Given the description of an element on the screen output the (x, y) to click on. 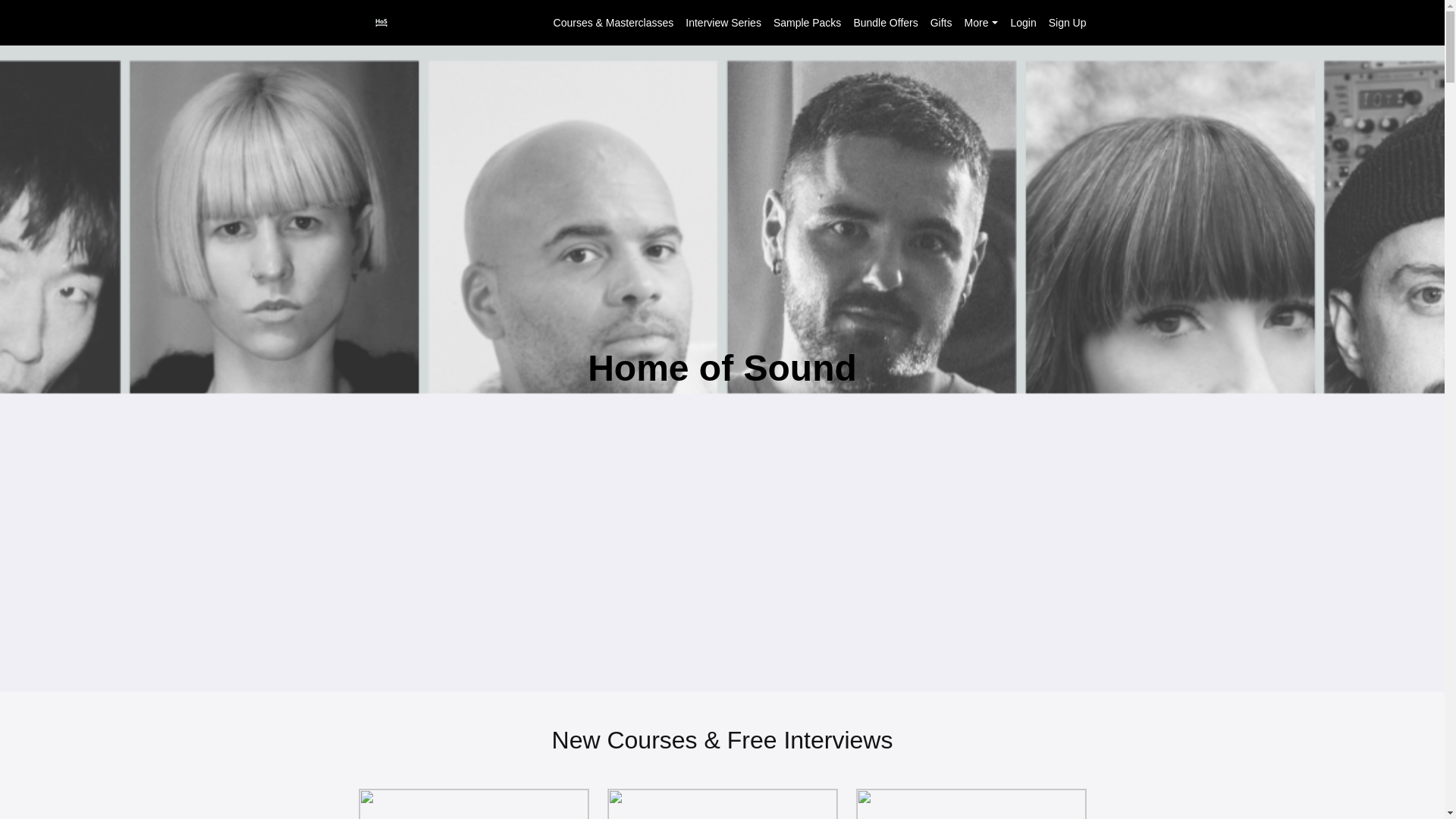
Interview Series (722, 804)
More (723, 22)
Sample Packs (986, 22)
Bundle Offers (807, 22)
Gifts (885, 22)
Sign Up (941, 22)
Login (1067, 22)
